Given the description of an element on the screen output the (x, y) to click on. 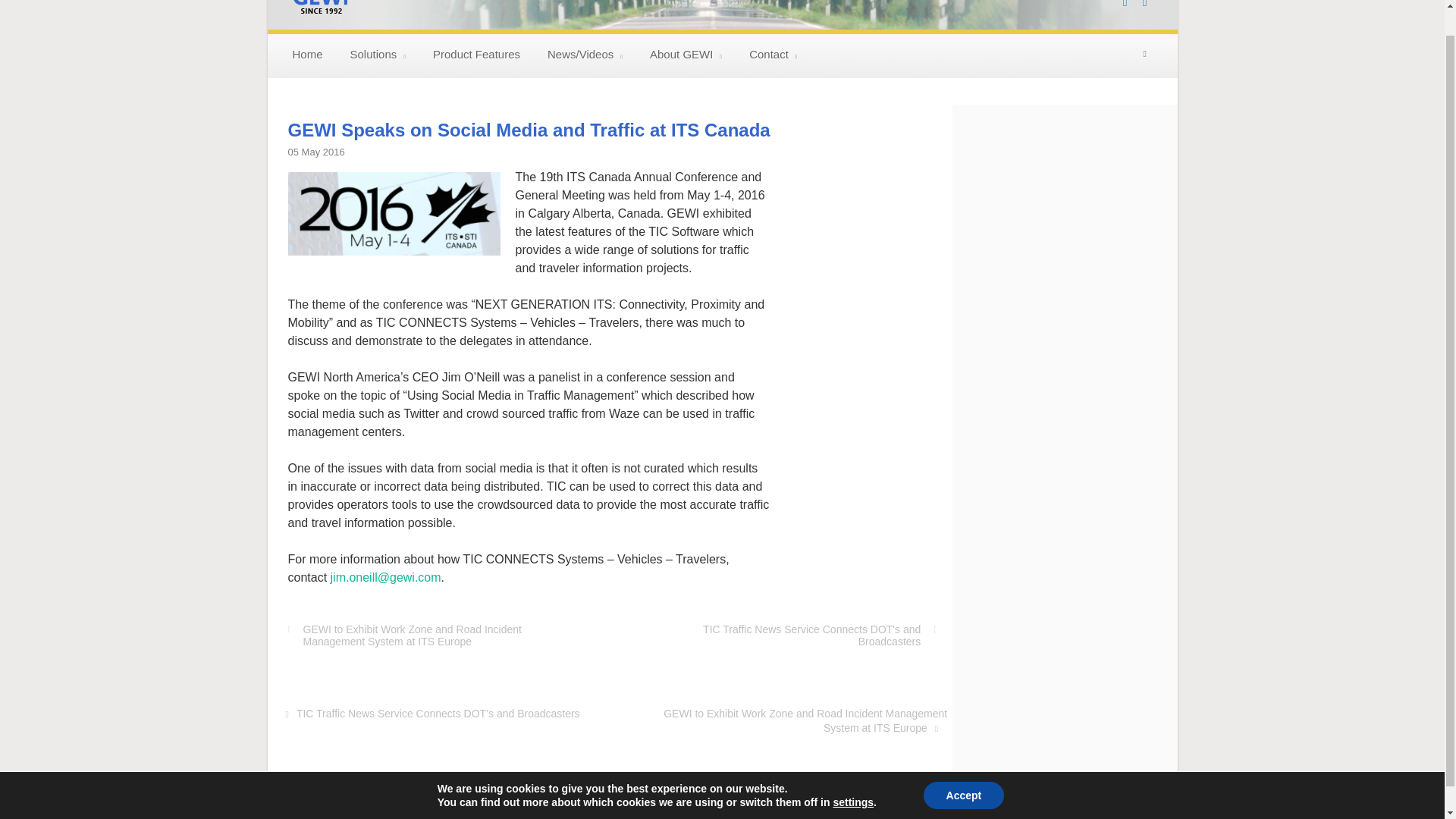
Contact (773, 55)
Product Features (476, 55)
Solutions (377, 55)
Home (307, 55)
About GEWI (685, 55)
